Given the description of an element on the screen output the (x, y) to click on. 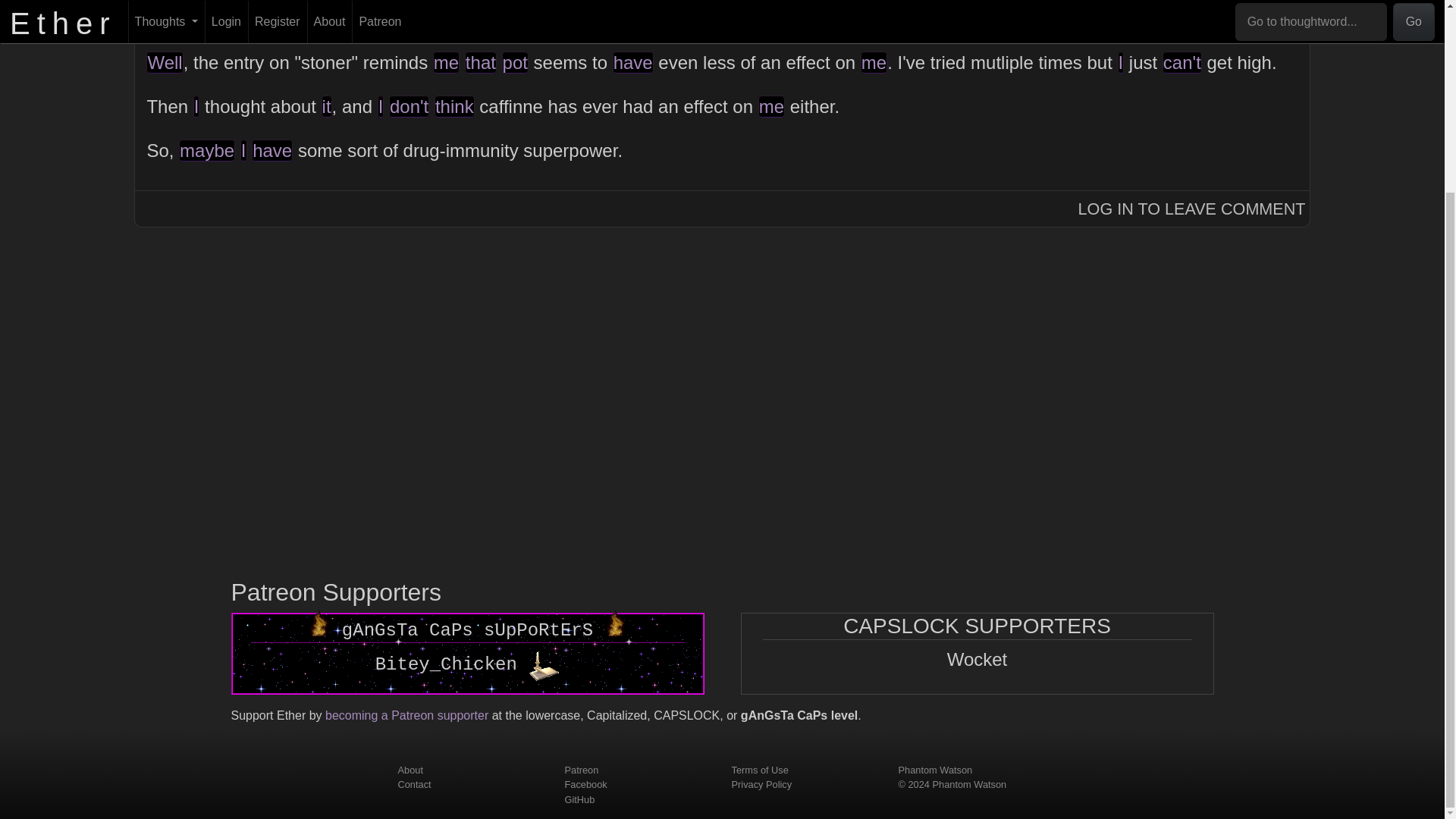
don't (408, 106)
maybe (206, 150)
think (453, 106)
Watch out, this website might be too EDGY for you (318, 617)
I (243, 150)
me (446, 62)
me (873, 62)
have (632, 62)
I (1121, 62)
me (771, 106)
that (480, 62)
it (326, 106)
can't (1181, 62)
me (652, 18)
I (380, 106)
